Given the description of an element on the screen output the (x, y) to click on. 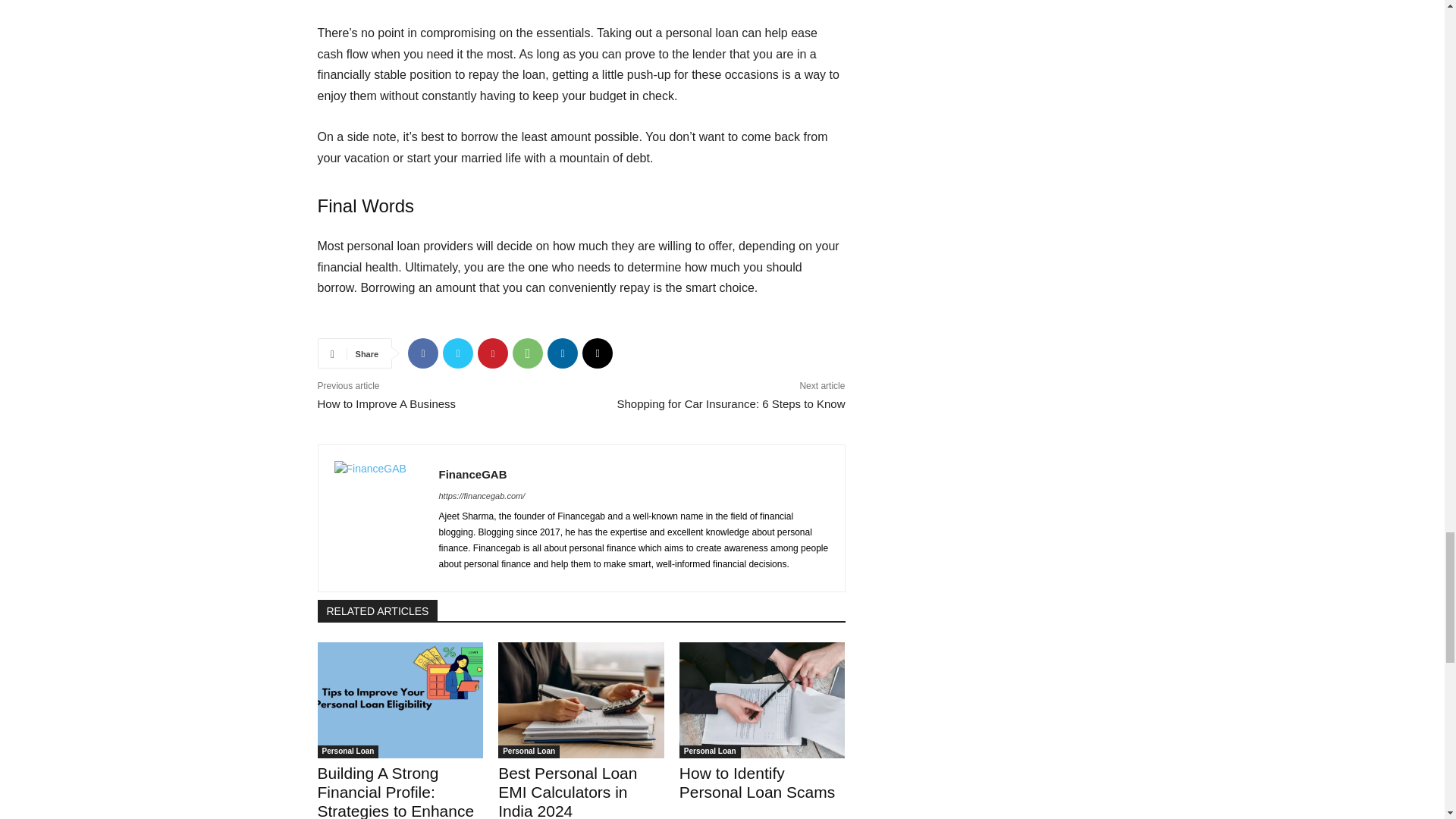
Facebook (422, 353)
Twitter (457, 353)
